Given the description of an element on the screen output the (x, y) to click on. 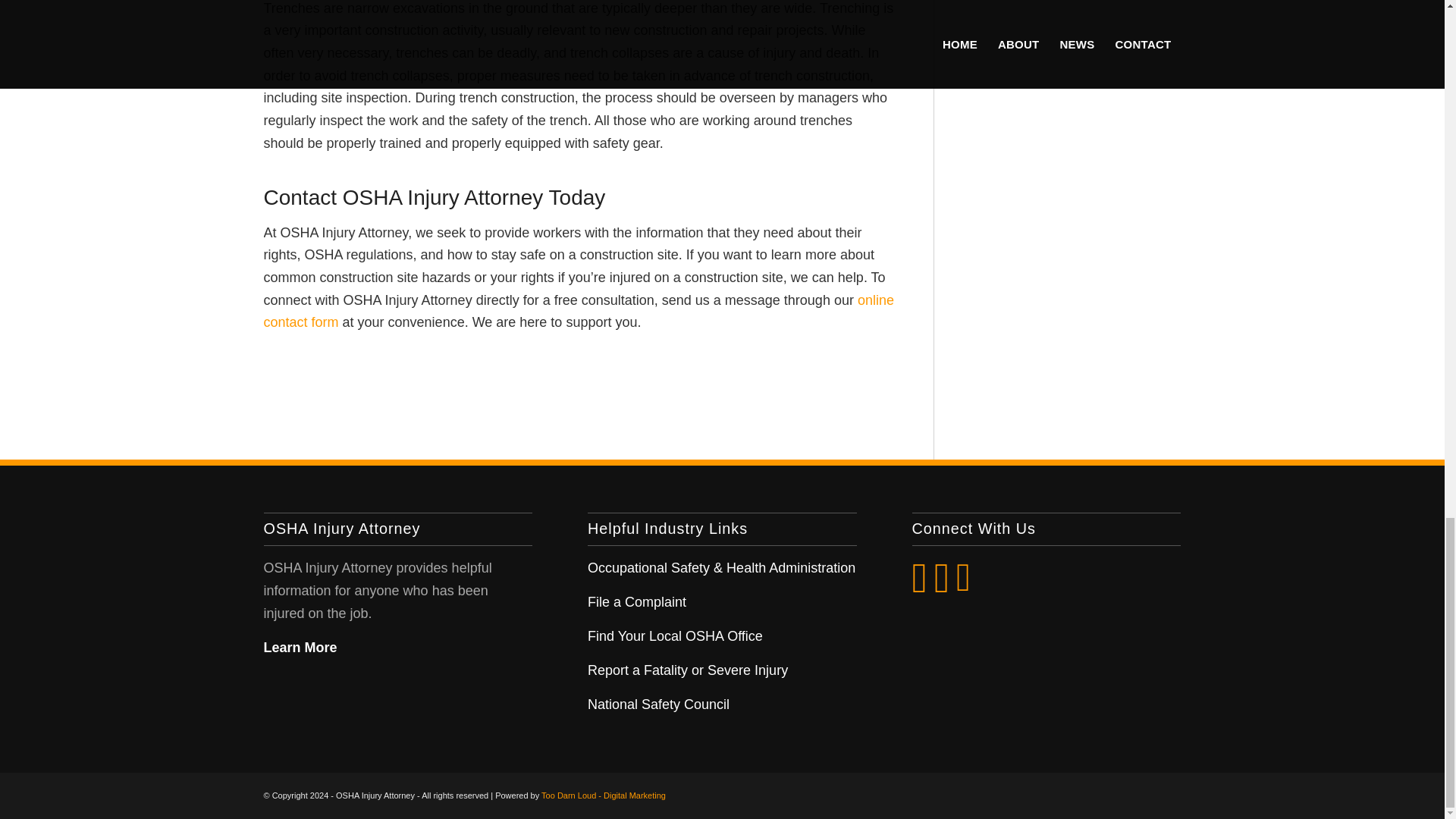
online contact form (578, 311)
Learn More (300, 647)
Find Your Local OSHA Office (675, 635)
Report a Fatality or Severe Injury (687, 670)
Too Darn Loud - Digital Marketing (603, 795)
File a Complaint (636, 601)
National Safety Council (658, 703)
